Given the description of an element on the screen output the (x, y) to click on. 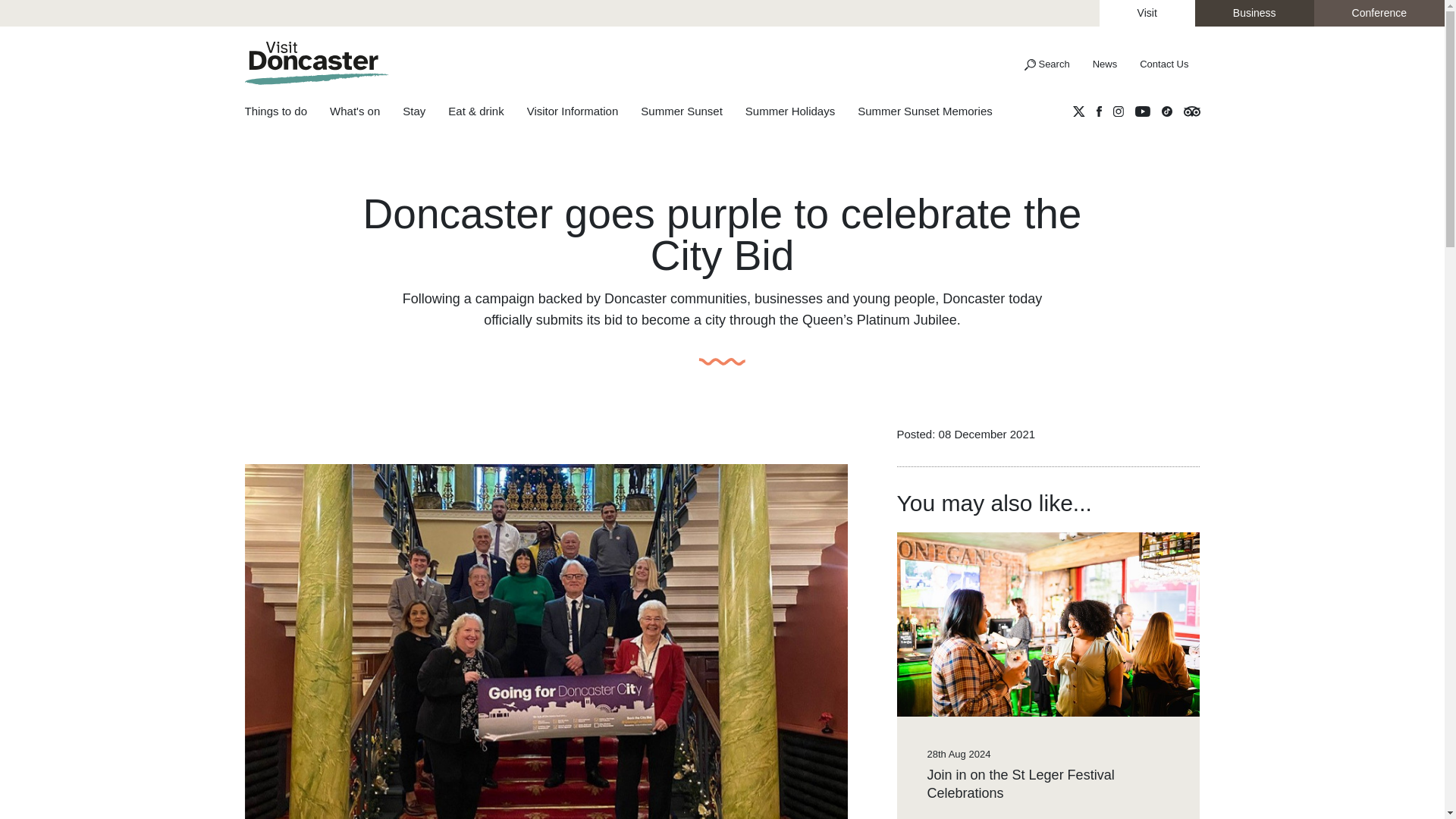
News (1105, 64)
Business (1254, 13)
Contact Us (1163, 64)
Stay (425, 112)
What's on (366, 112)
Search (1046, 64)
Visit (1147, 13)
Things to do (287, 112)
